Given the description of an element on the screen output the (x, y) to click on. 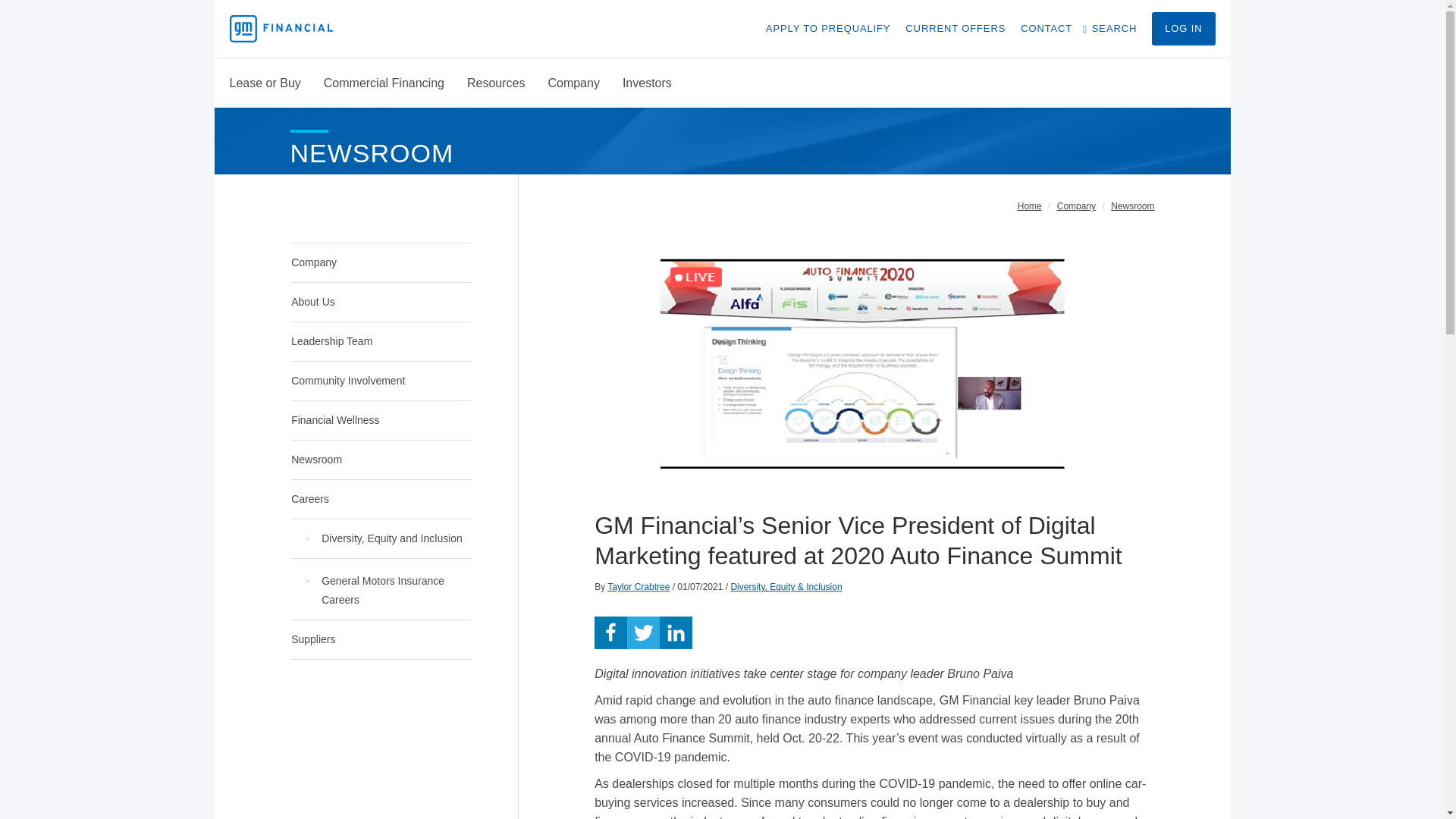
CURRENT OFFERS (955, 28)
APPLY TO PREQUALIFY (827, 28)
CONTACT (1045, 28)
SEARCH (1112, 28)
LOG IN (1182, 28)
